Given the description of an element on the screen output the (x, y) to click on. 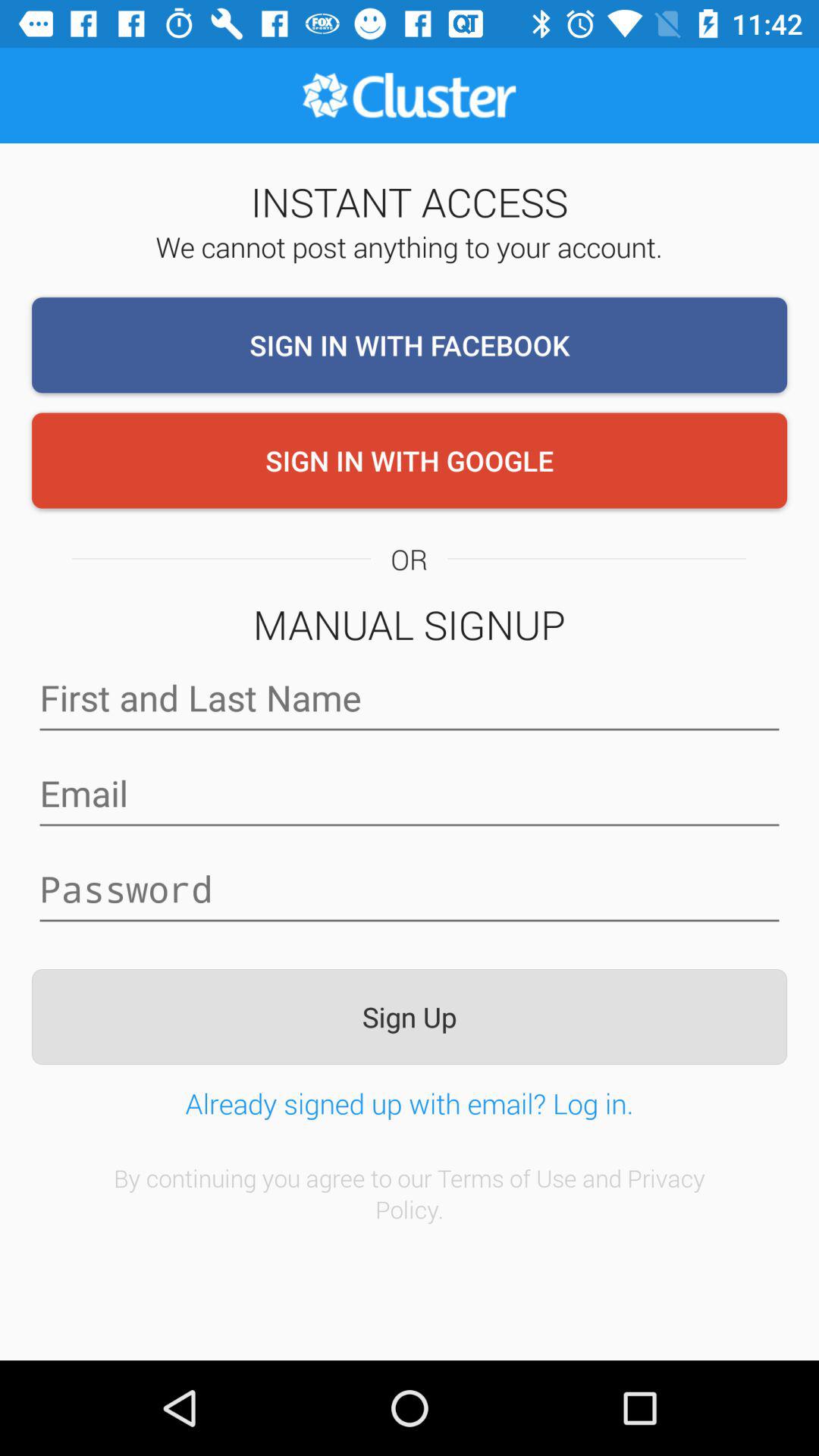
enter your full name (409, 698)
